Given the description of an element on the screen output the (x, y) to click on. 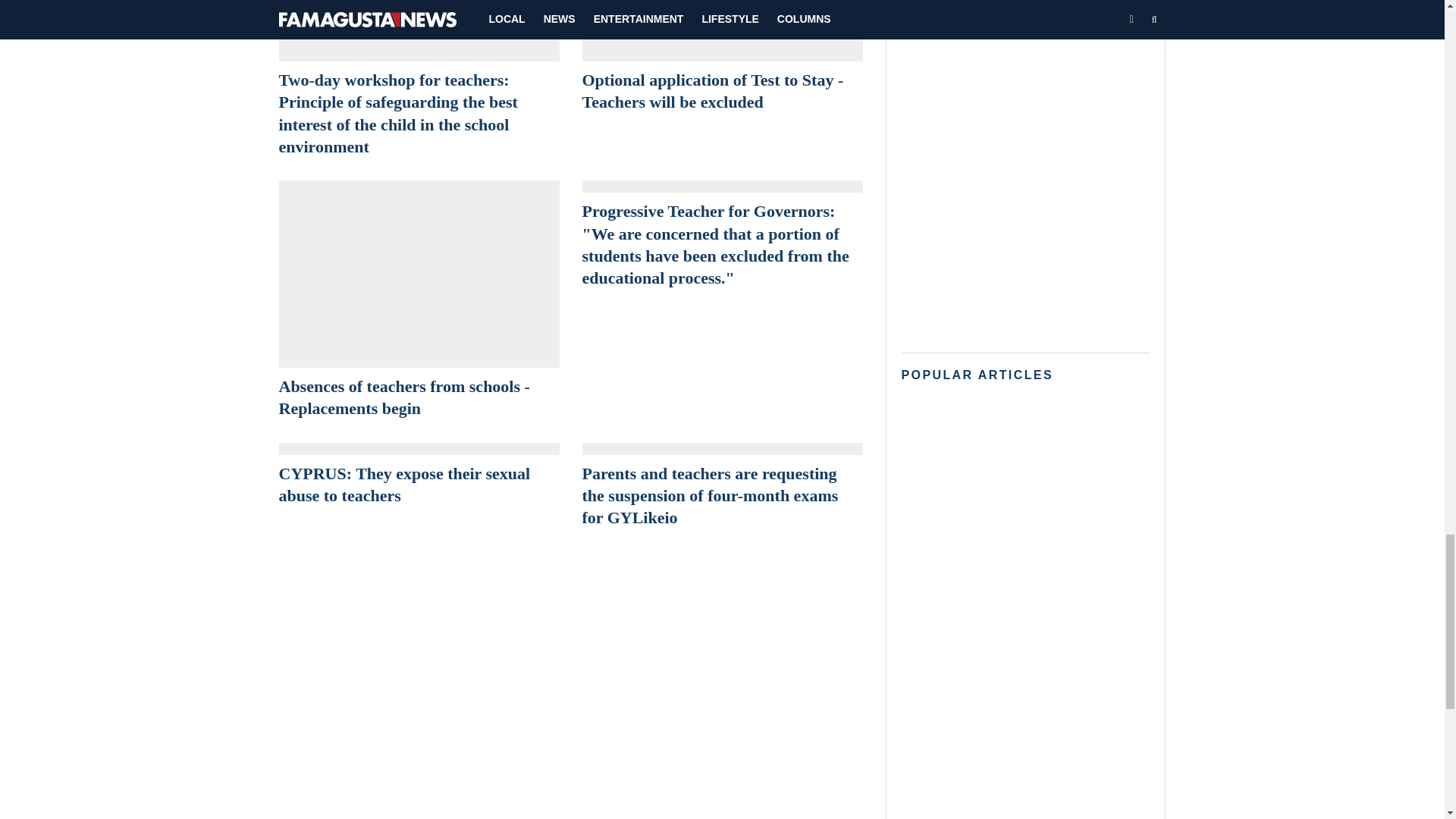
sxolio (722, 186)
2bce32f958947ffa601e0737d02e9c74 (722, 31)
